Given the description of an element on the screen output the (x, y) to click on. 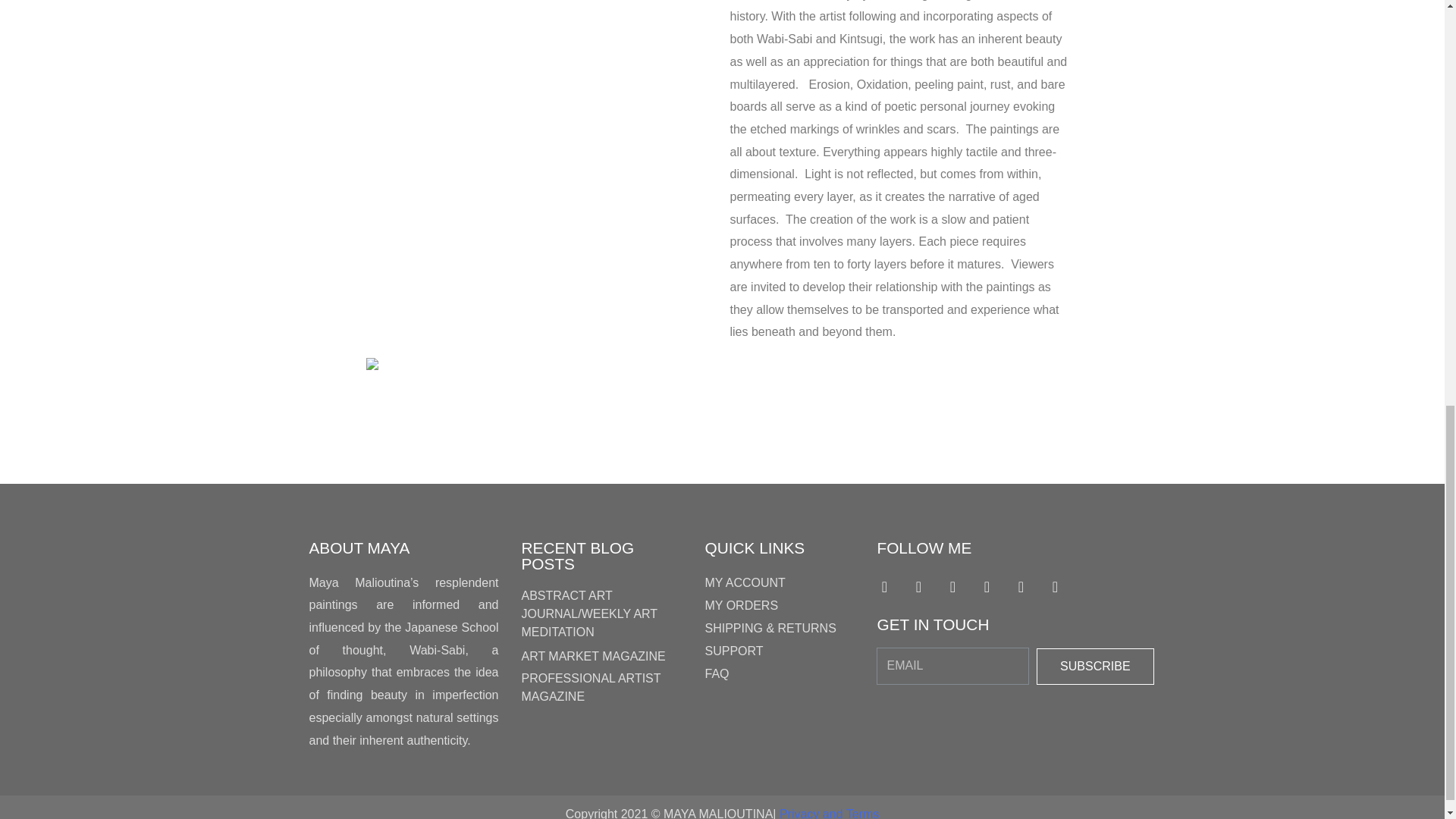
SUBSCRIBE (1094, 666)
ART MARKET MAGAZINE (593, 656)
FAQ (778, 673)
MY ORDERS (778, 605)
SUPPORT (778, 650)
PROFESSIONAL ARTIST MAGAZINE (591, 686)
MY ACCOUNT (778, 582)
